Given the description of an element on the screen output the (x, y) to click on. 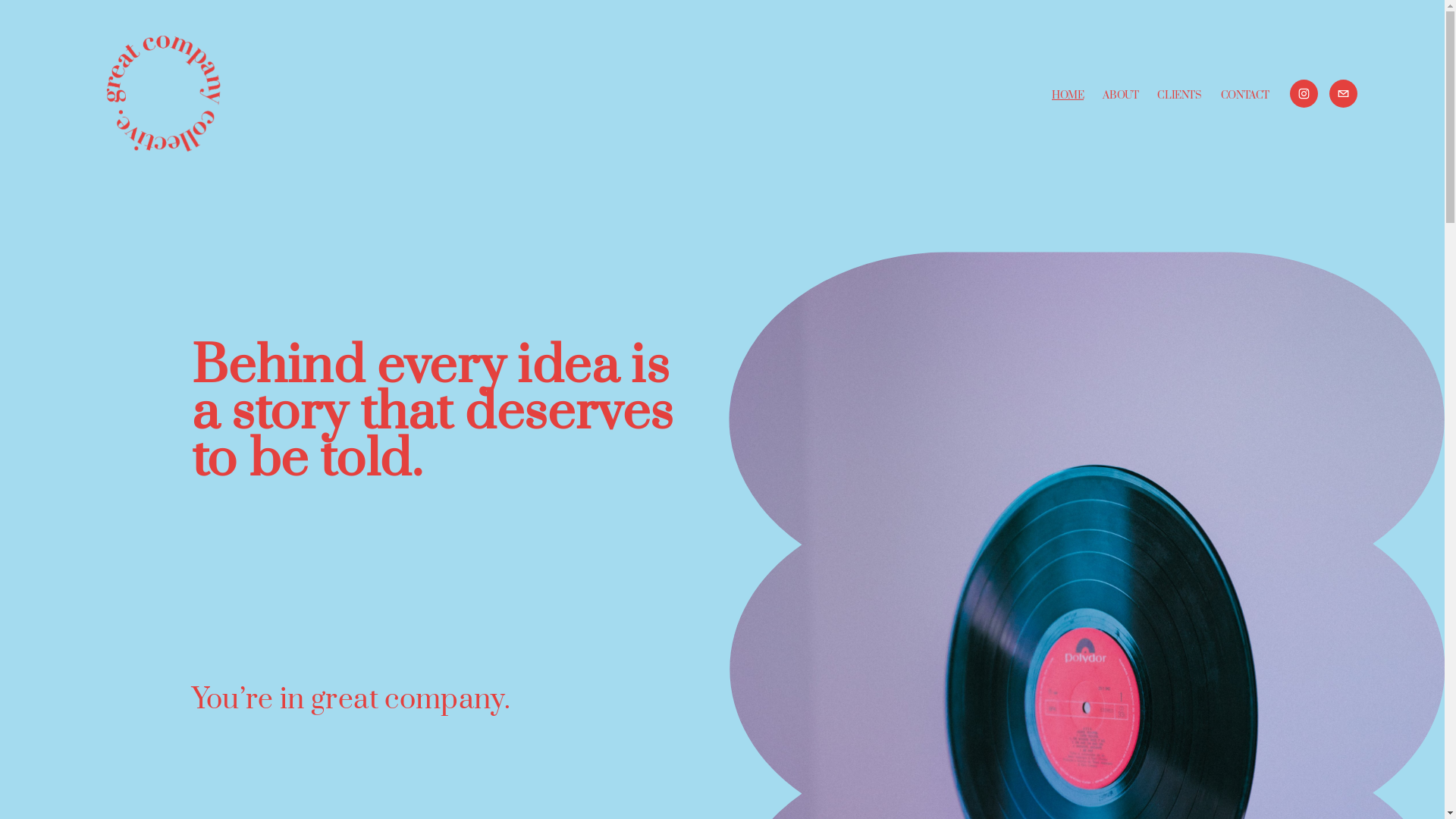
CLIENTS Element type: text (1179, 95)
HOME Element type: text (1067, 95)
ABOUT Element type: text (1120, 95)
CONTACT Element type: text (1244, 95)
